Given the description of an element on the screen output the (x, y) to click on. 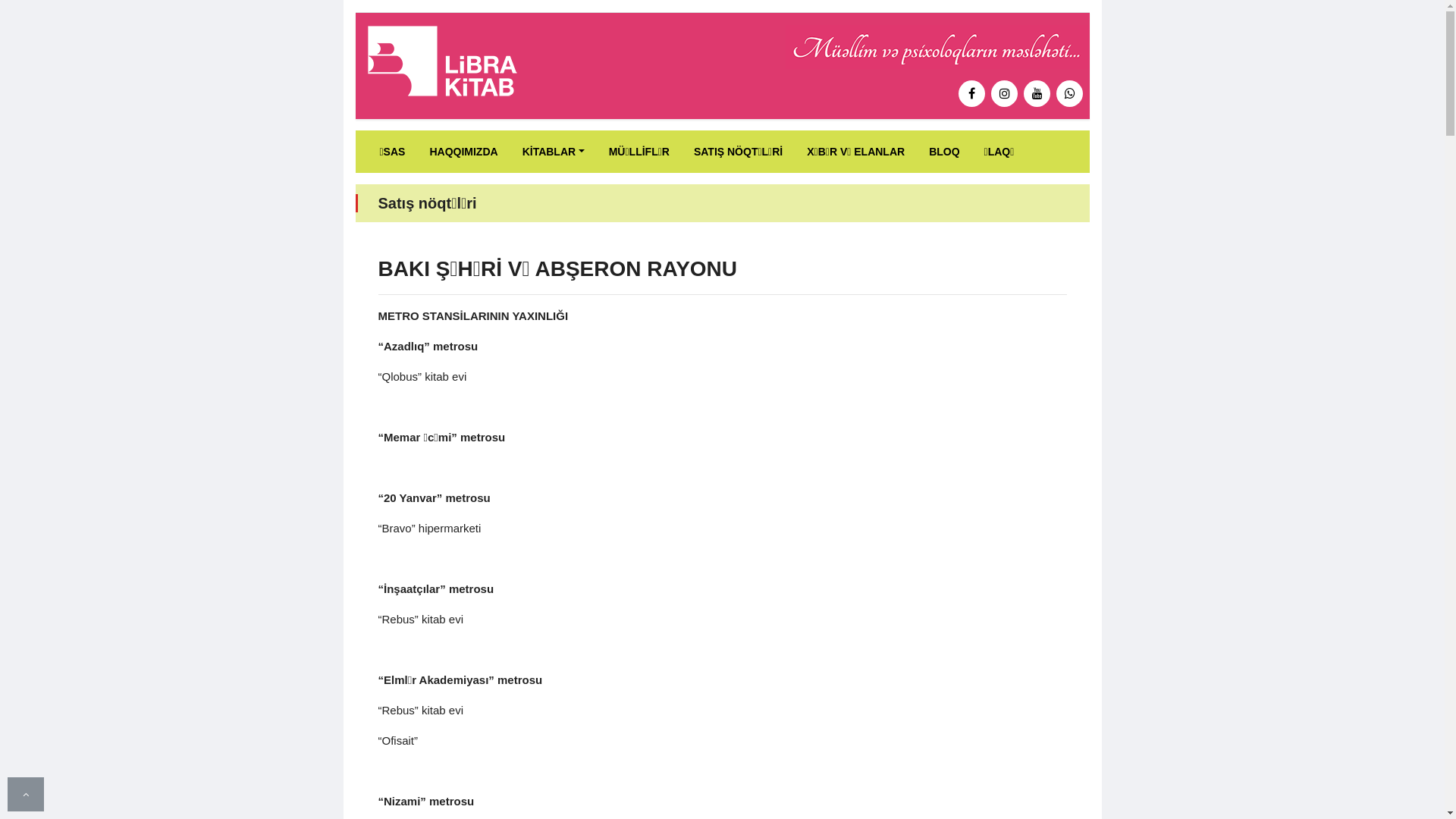
HAQQIMIZDA Element type: text (463, 151)
BLOQ Element type: text (943, 151)
KITABLAR Element type: text (553, 151)
Back to Top Element type: hover (25, 793)
